Given the description of an element on the screen output the (x, y) to click on. 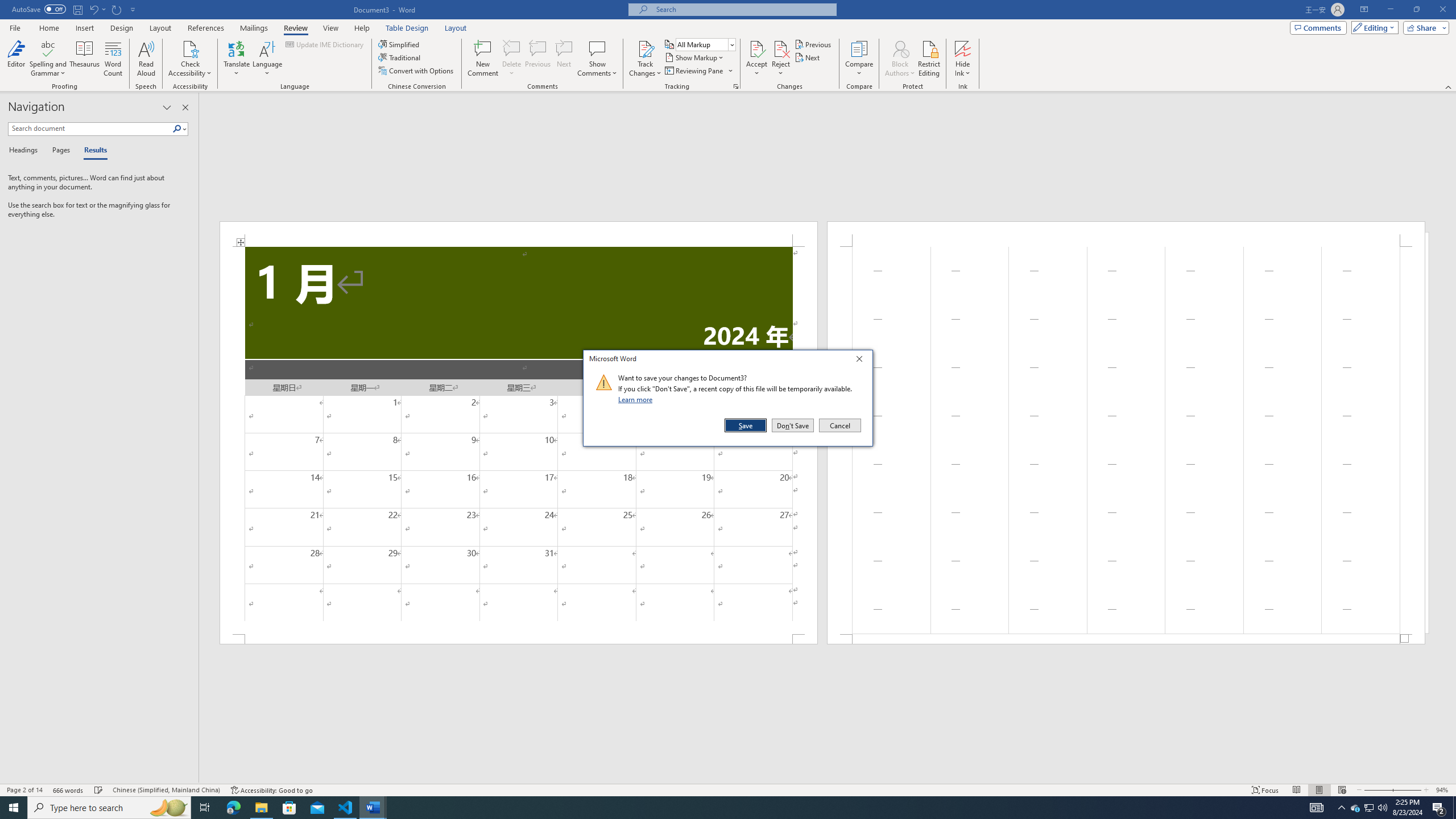
Spelling and Grammar Check Checking (98, 790)
Microsoft Edge (233, 807)
File Explorer - 1 running window (261, 807)
Cancel (839, 425)
Collapse the Ribbon (1448, 86)
Spelling and Grammar (48, 48)
Word Count 666 words (68, 790)
Traditional (400, 56)
Open (731, 44)
Q2790: 100% (1382, 807)
AutomationID: 4105 (1316, 807)
Search highlights icon opens search home window (167, 807)
Help (361, 28)
References (205, 28)
Thesaurus... (84, 58)
